Given the description of an element on the screen output the (x, y) to click on. 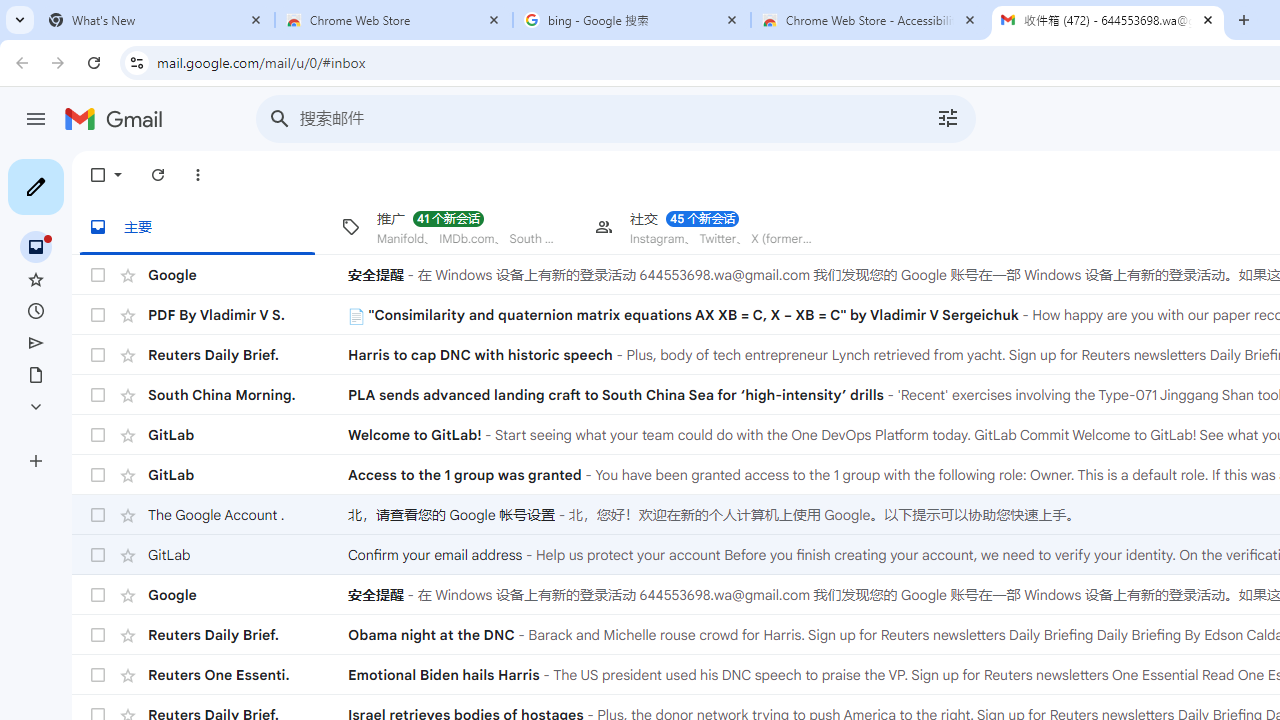
Reuters Daily Brief. (248, 634)
Reload (93, 62)
The Google Account . (248, 514)
